Given the description of an element on the screen output the (x, y) to click on. 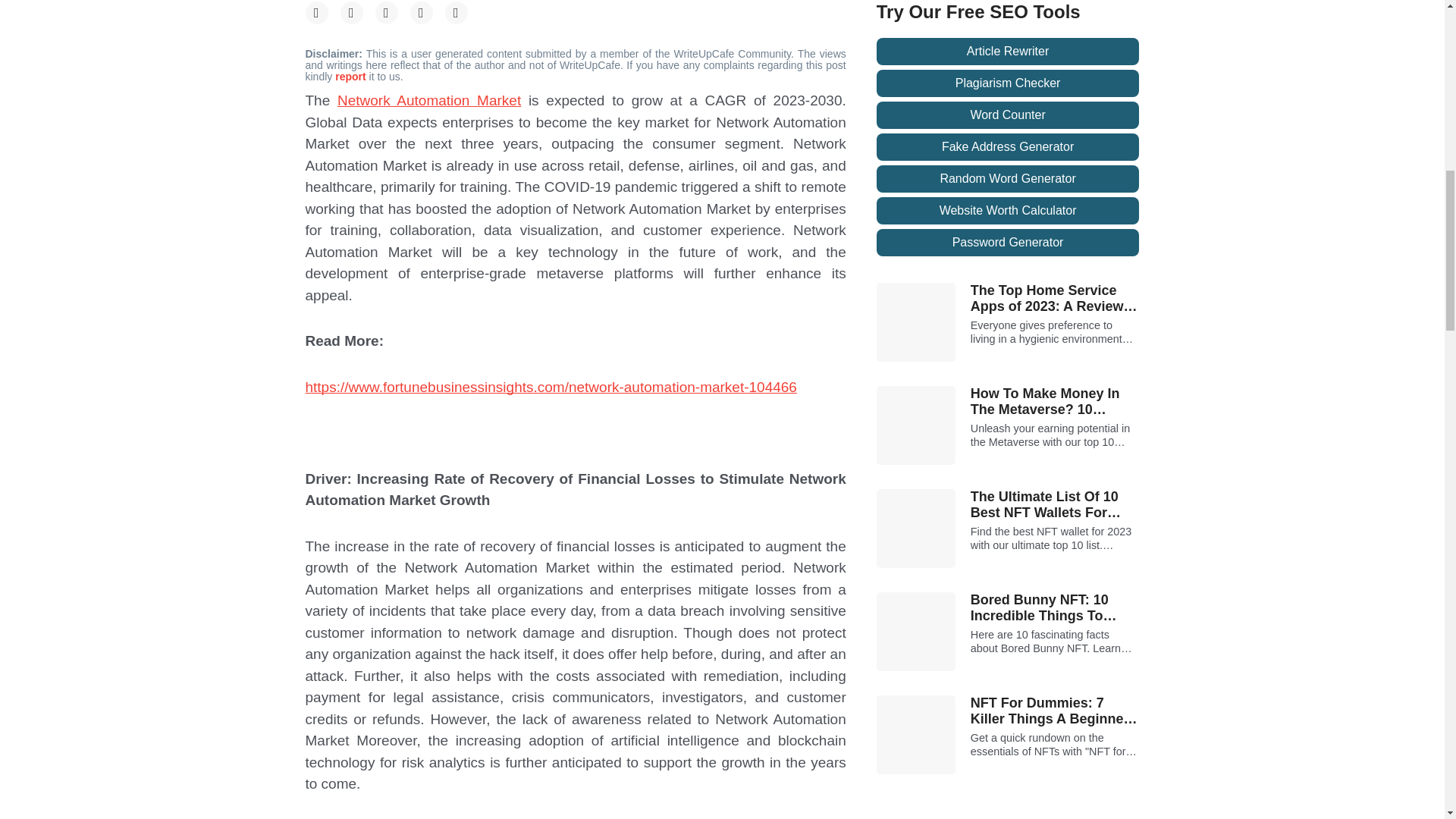
report (351, 76)
Word Counter (1008, 114)
Random Word Generator (1008, 178)
Password Generator (1008, 242)
Website Worth Calculator (1008, 210)
Plagiarism Checker (1008, 83)
Network Automation Market (429, 100)
Article Rewriter (1008, 51)
Fake Address Generator (1008, 146)
The Top Home Service Apps of 2023: A Review and Comparison (1055, 298)
